Given the description of an element on the screen output the (x, y) to click on. 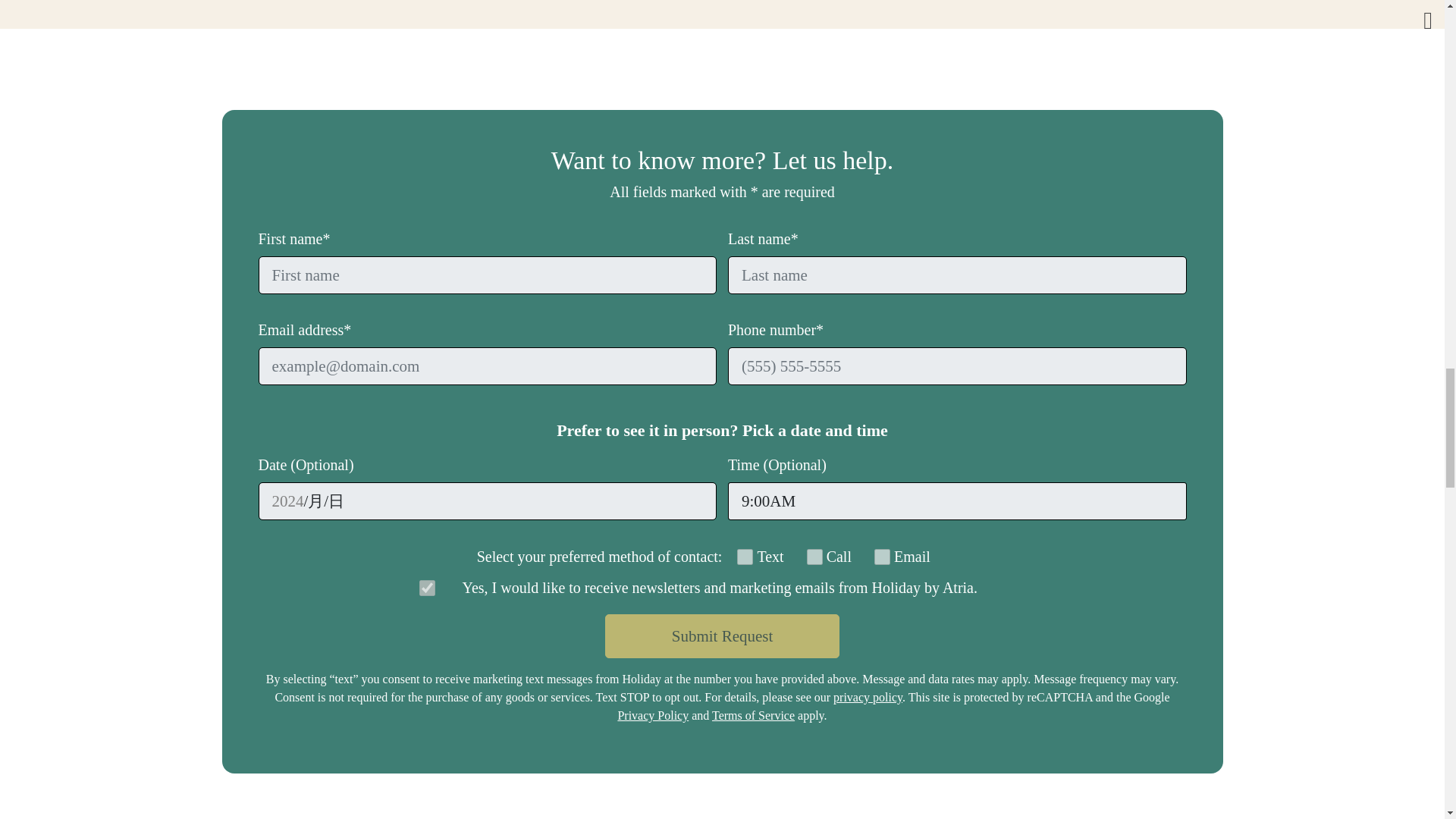
Terms of Service (752, 715)
email (882, 556)
call (814, 556)
text (744, 556)
privacy policy (867, 697)
Submit Request (722, 636)
on (426, 587)
Privacy Policy (652, 715)
